Given the description of an element on the screen output the (x, y) to click on. 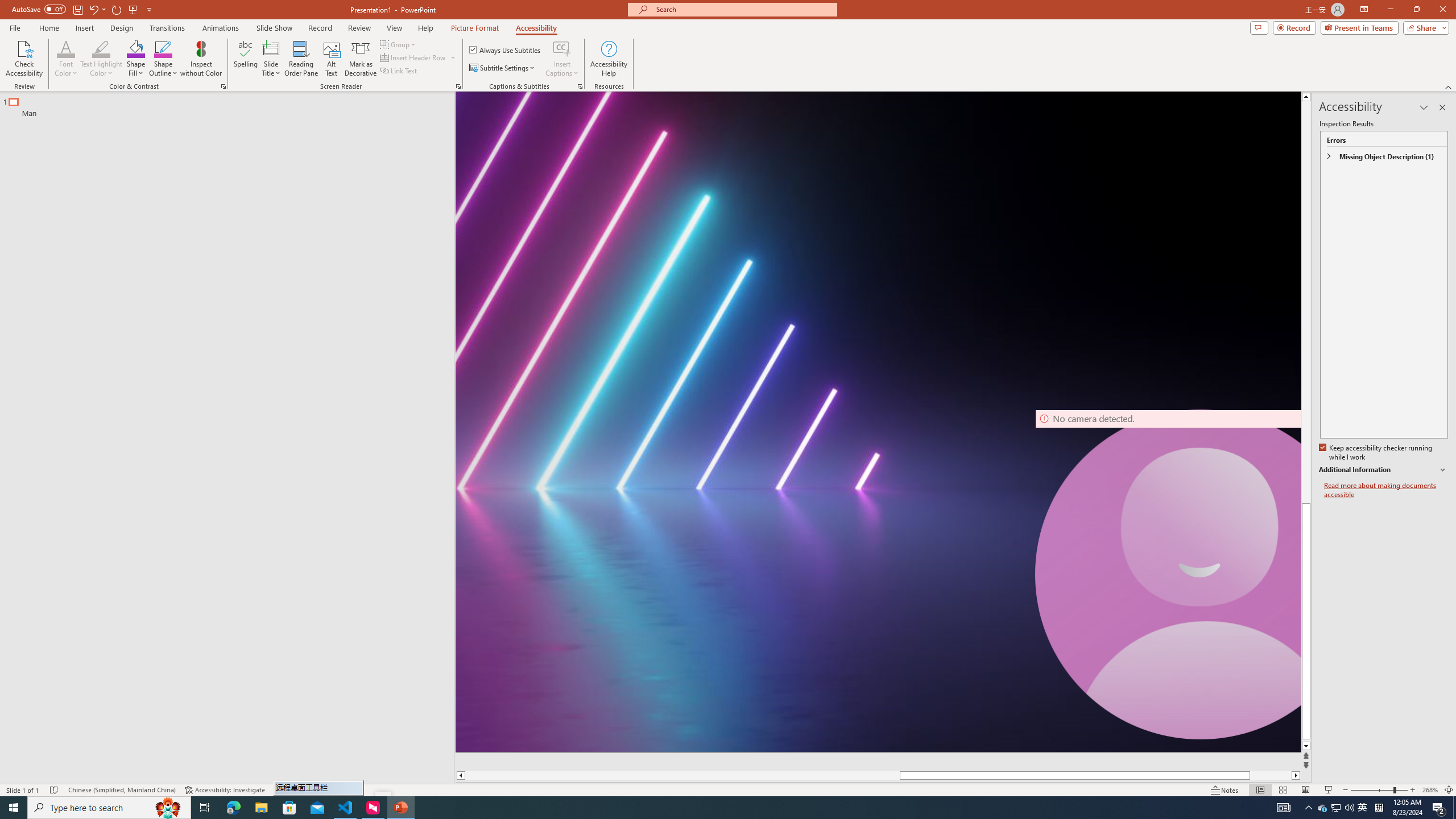
Zoom (1379, 790)
Restore Down (1416, 9)
Font Color (65, 58)
Link Text (399, 69)
Shape Fill Orange, Accent 2 (135, 48)
Present in Teams (1359, 27)
Slide Title (271, 48)
Close pane (1441, 107)
Accessibility Checker Accessibility: Investigate (224, 790)
Alt Text (331, 58)
Normal (1260, 790)
Insert Header Row (413, 56)
Always Use Subtitles (505, 49)
